Given the description of an element on the screen output the (x, y) to click on. 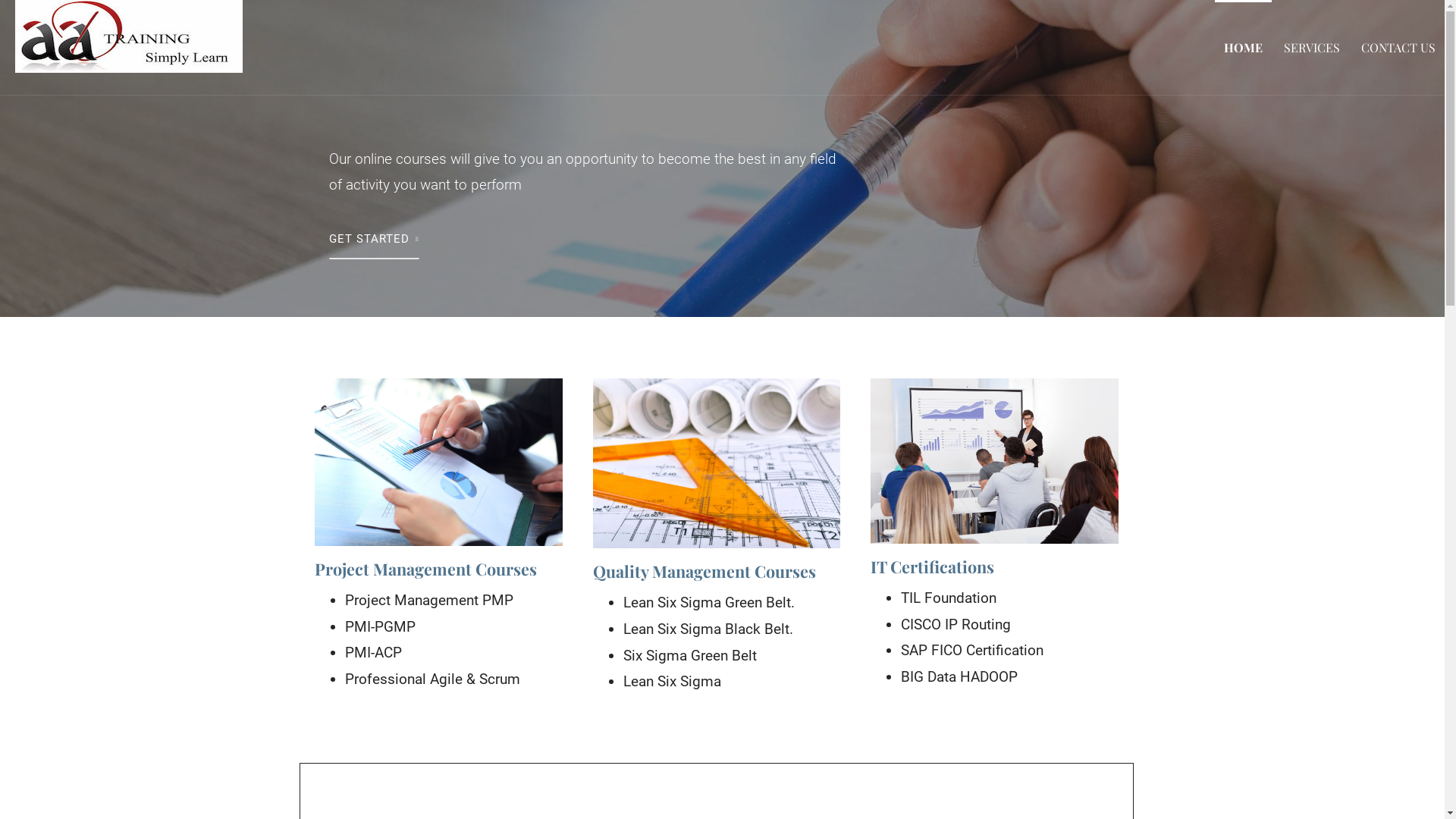
Quality Management Courses Element type: text (704, 570)
GET STARTED Element type: text (374, 239)
SERVICES Element type: text (1311, 47)
CONTACT US Element type: text (1398, 47)
Project Management Courses Element type: text (425, 568)
IT Certifications Element type: text (932, 566)
HOME Element type: text (1242, 47)
